Given the description of an element on the screen output the (x, y) to click on. 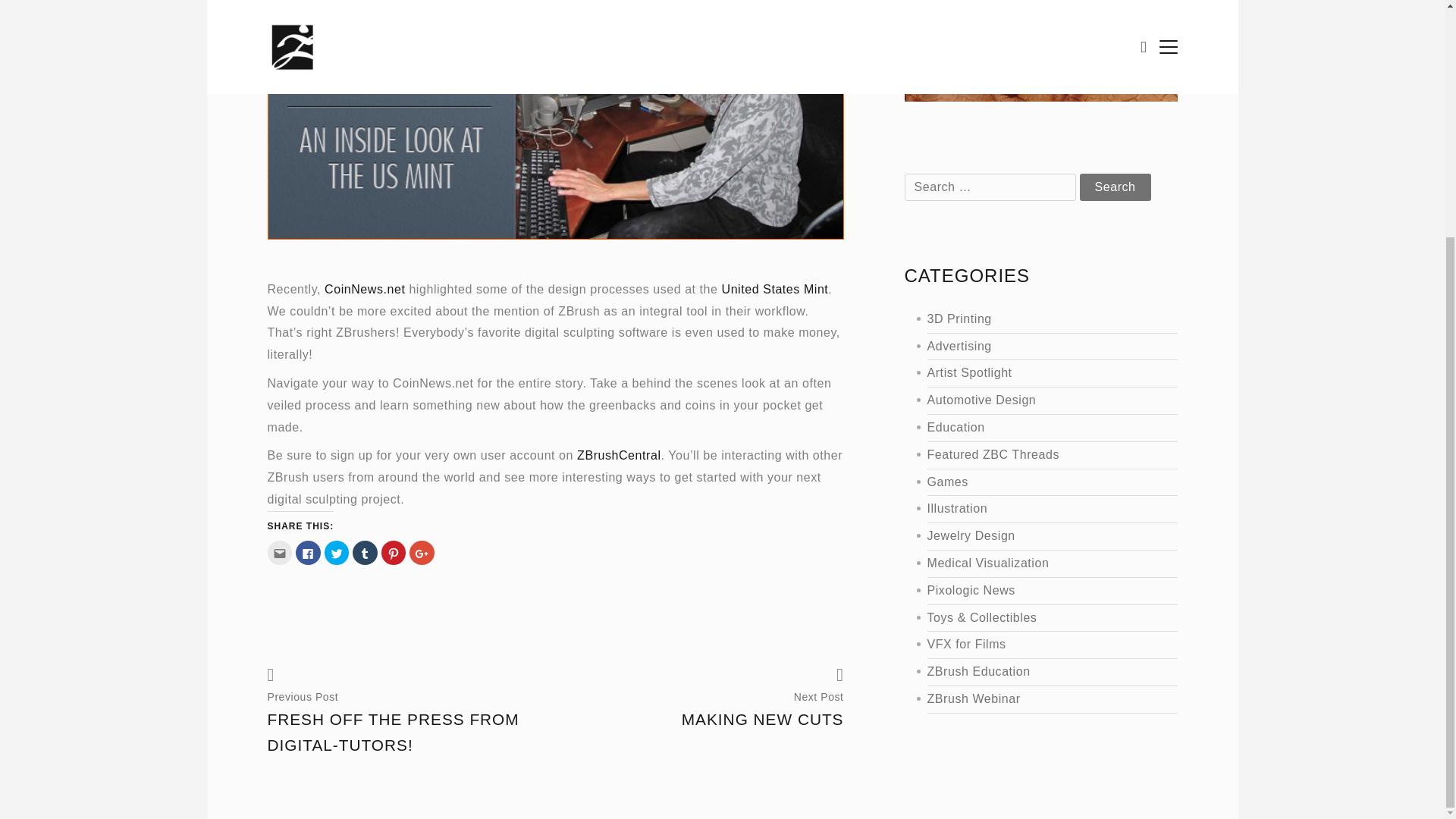
Illustration with ZBrush (1034, 508)
3D Printing (1034, 319)
Artist Spotlight (1034, 373)
Search (1115, 186)
Search (1115, 186)
Games (1034, 482)
ZBrush in the Education Field (1034, 427)
United States Mint (775, 288)
Click to share on Tumblr (364, 552)
Education (714, 700)
CoinNews.net (1034, 427)
Medical Visualization with ZBrush (364, 288)
Automotive Design with ZBrush (1034, 563)
Search (1034, 400)
